Given the description of an element on the screen output the (x, y) to click on. 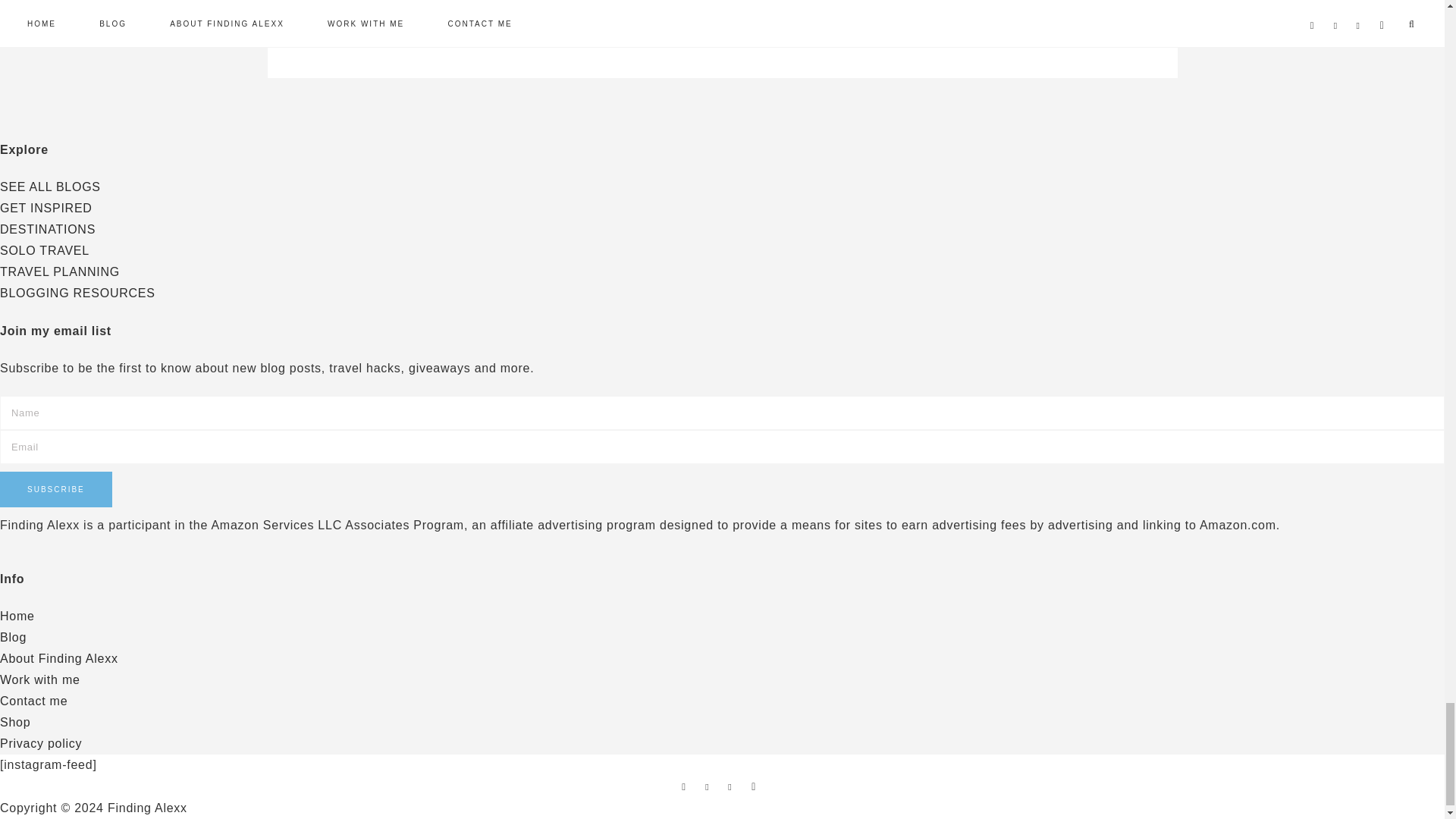
Pinterest (709, 785)
Subscribe (56, 488)
Facebook (687, 785)
Instagram (732, 785)
Email Me (756, 785)
